Given the description of an element on the screen output the (x, y) to click on. 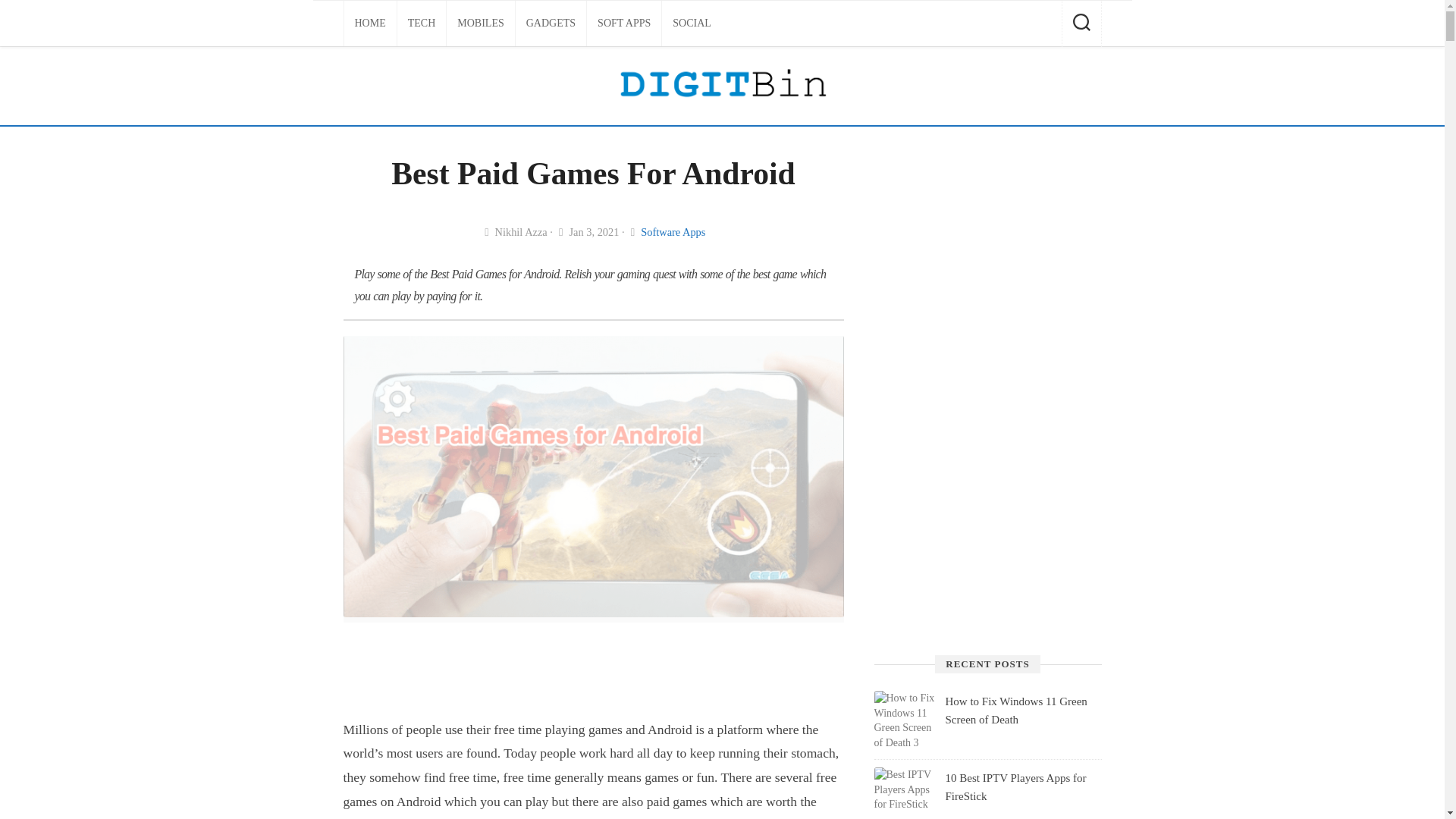
MOBILES (480, 23)
SOCIAL (691, 23)
TECH (421, 23)
HOME (370, 23)
GADGETS (550, 23)
SOFT APPS (623, 23)
Software Apps (672, 232)
